Given the description of an element on the screen output the (x, y) to click on. 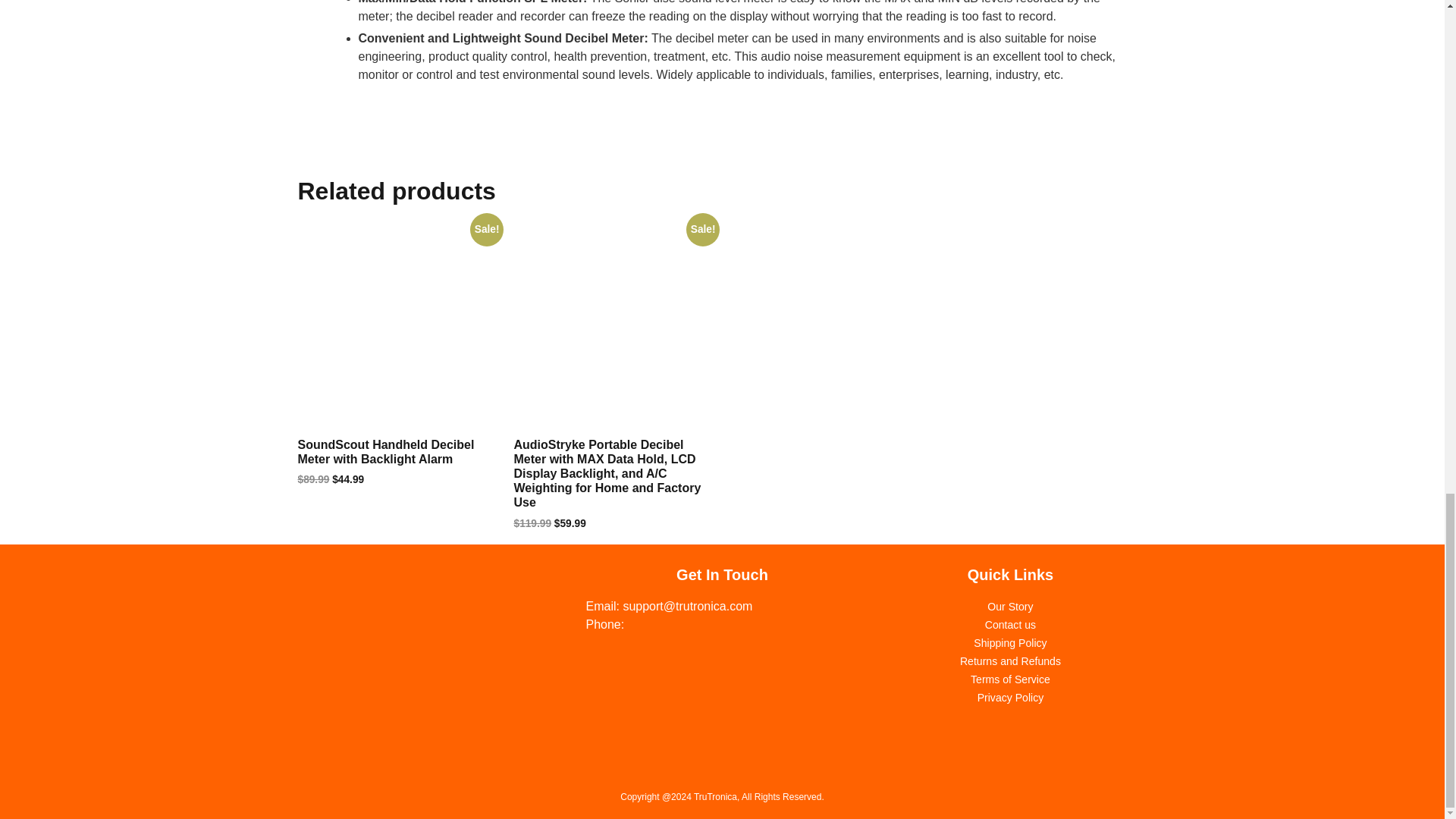
Returns and Refunds (1010, 661)
Privacy Policy (1009, 697)
Shipping Policy (1010, 643)
Contact us (1010, 624)
Our Story (1009, 606)
Terms of Service (1010, 679)
